Given the description of an element on the screen output the (x, y) to click on. 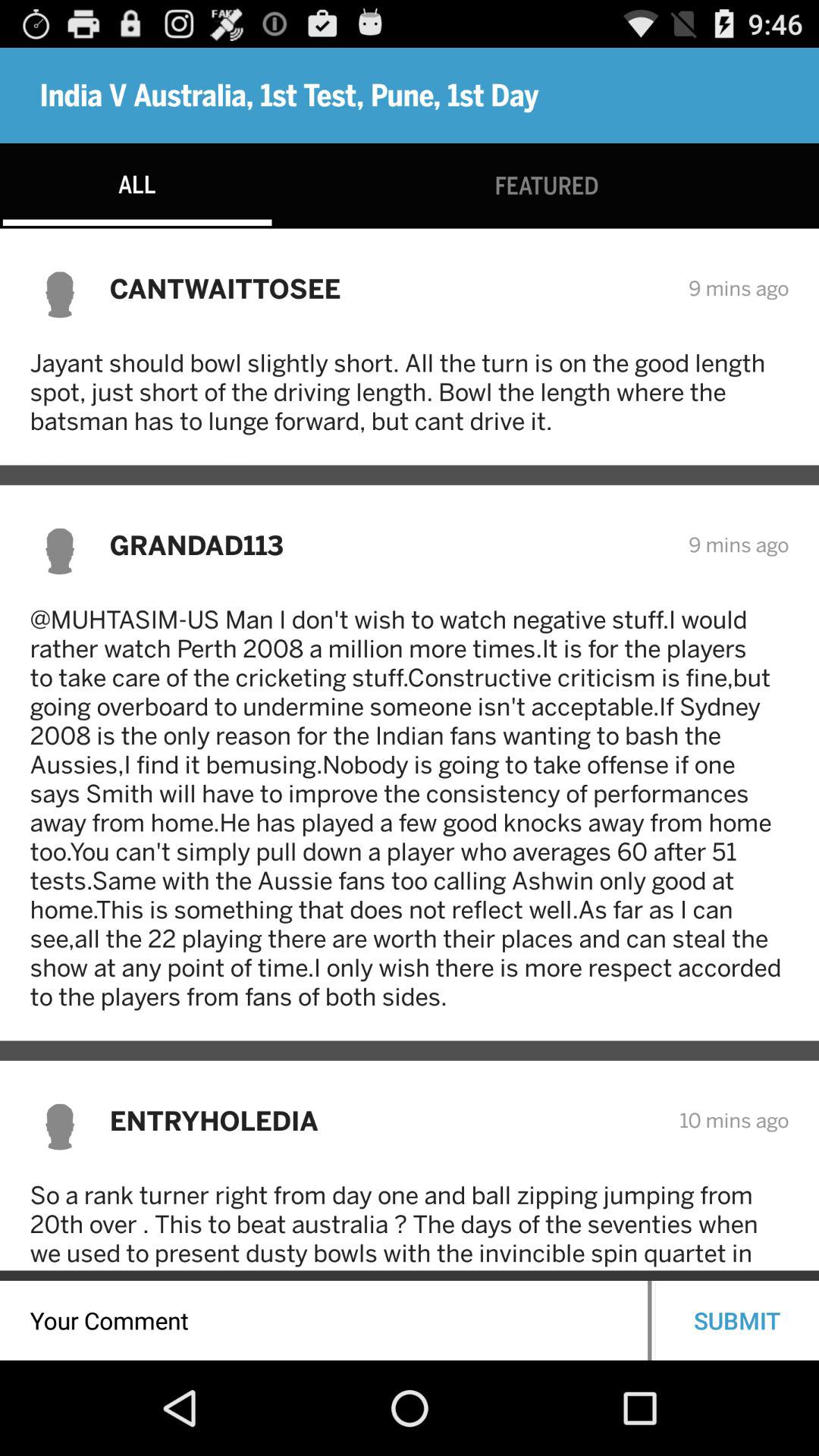
select jayant should bowl (409, 391)
